Given the description of an element on the screen output the (x, y) to click on. 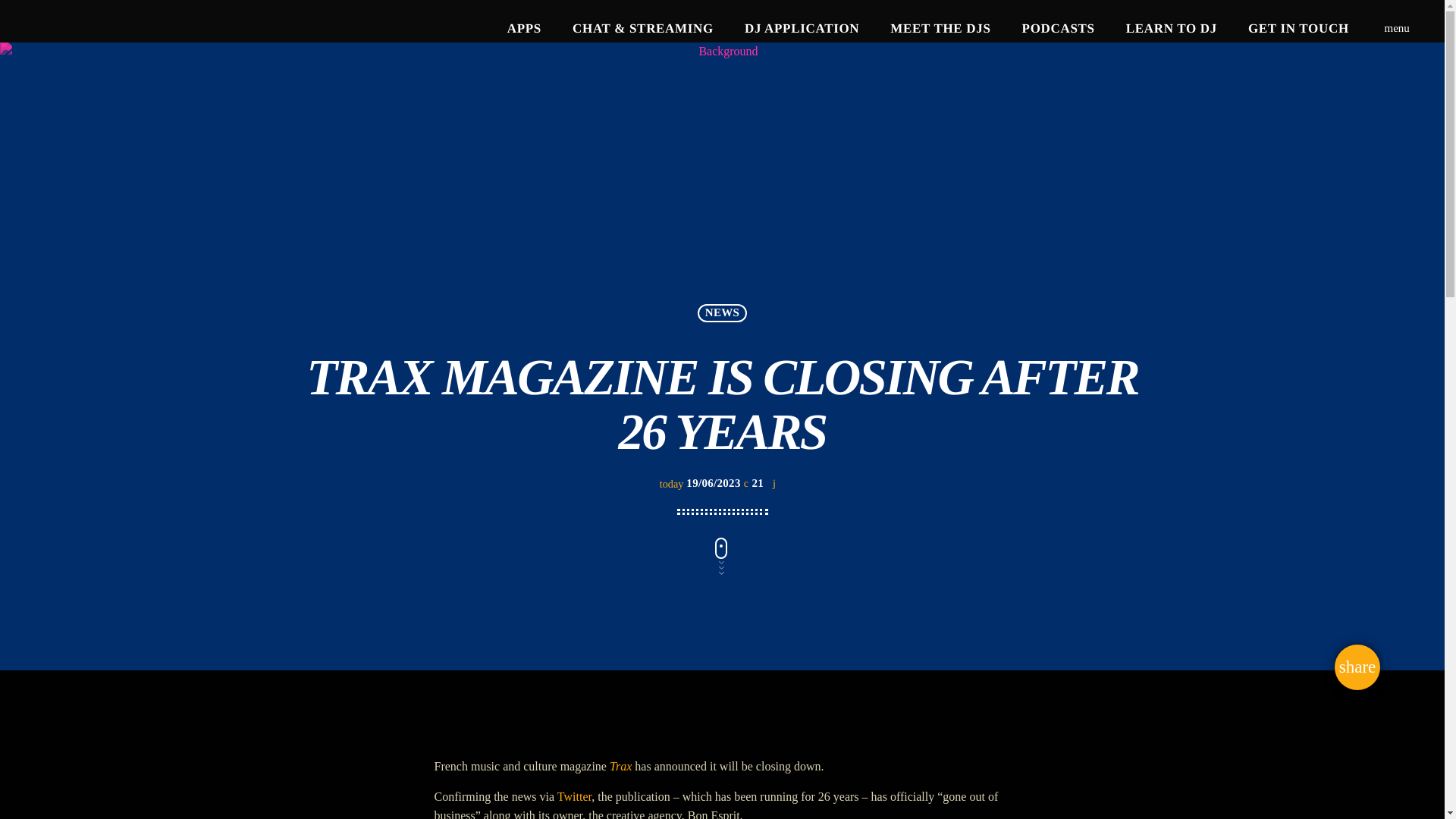
GET IN TOUCH (1297, 29)
APPS (524, 29)
NEWS (721, 312)
PODCASTS (1057, 29)
DJ APPLICATION (802, 29)
MEET THE DJS (940, 29)
email (1357, 666)
Trax (620, 766)
LEARN TO DJ (1170, 29)
menu (1396, 28)
